Given the description of an element on the screen output the (x, y) to click on. 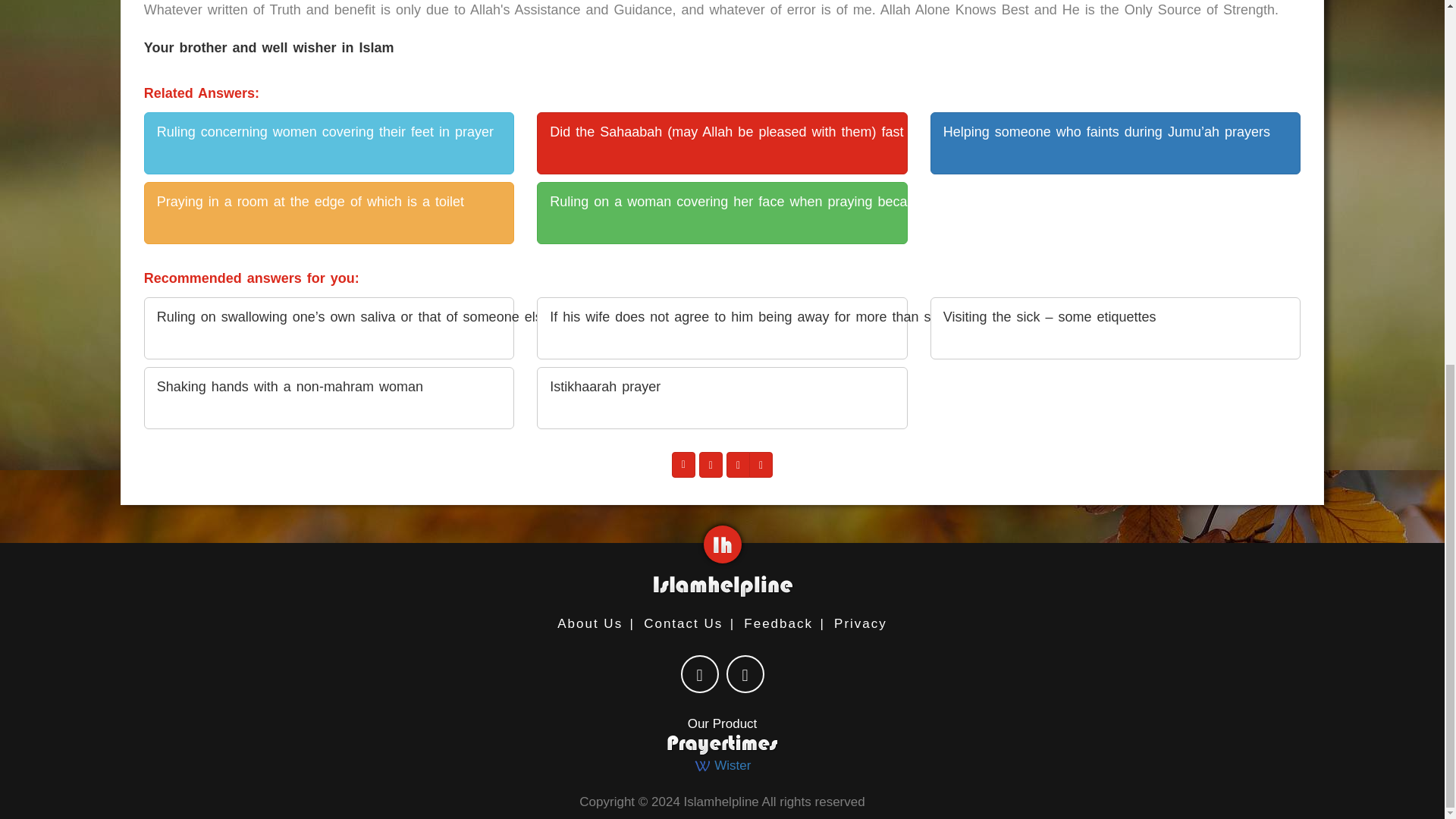
Praying in a room at the edge of which is a toilet (328, 212)
Shaking hands with a non-mahram woman (328, 397)
Istikhaarah prayer (722, 397)
Ruling concerning women covering their feet in prayer (328, 143)
